Given the description of an element on the screen output the (x, y) to click on. 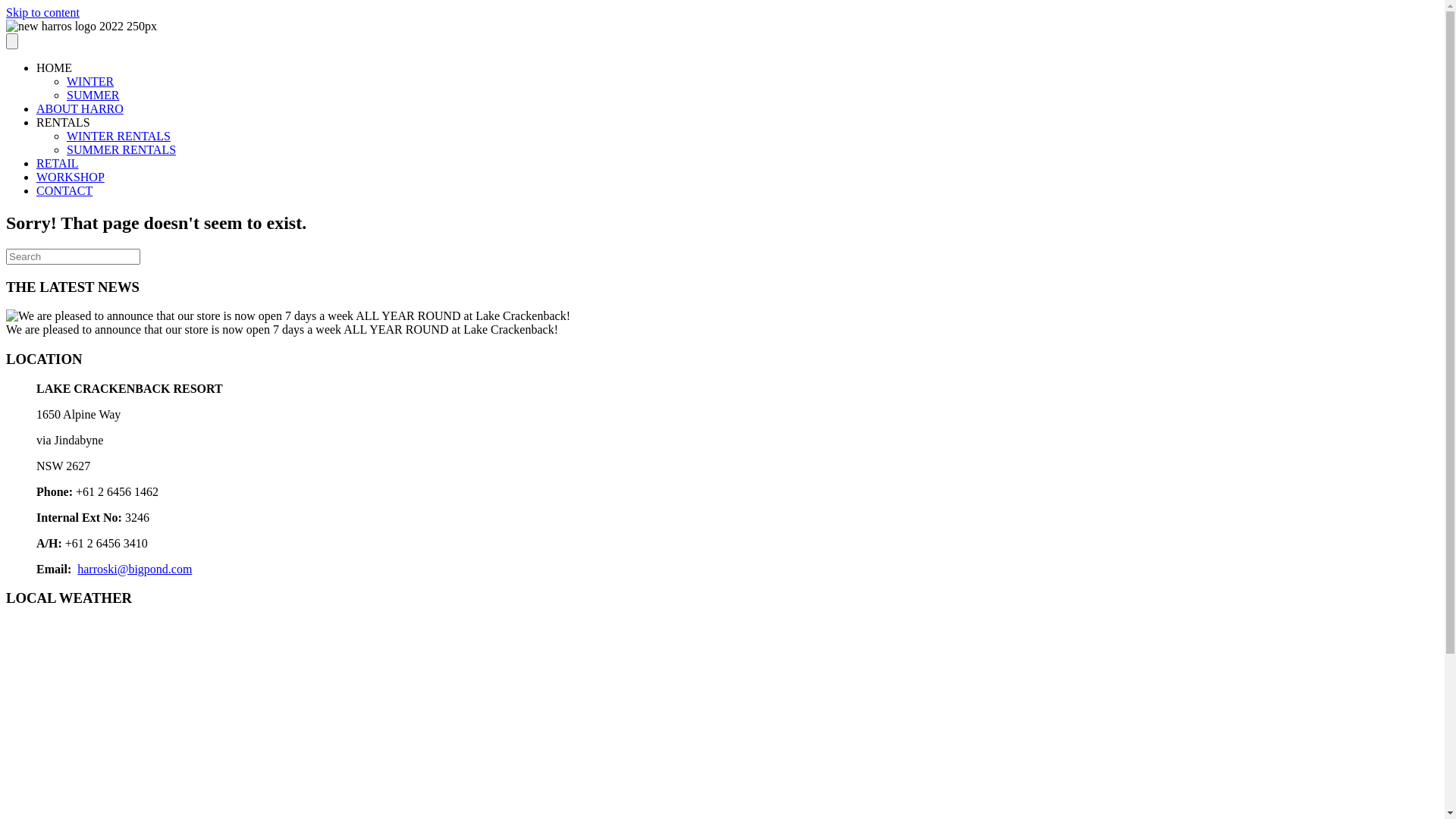
WINTER RENTALS Element type: text (118, 135)
David Harrison Element type: hover (288, 316)
Type and press Enter to search. Element type: hover (722, 256)
new harros logo 2022 250px Element type: hover (81, 26)
RENTALS Element type: text (63, 122)
WORKSHOP Element type: text (70, 176)
SUMMER RENTALS Element type: text (120, 149)
RETAIL Element type: text (57, 162)
WINTER Element type: text (89, 81)
Skip to content Element type: text (42, 12)
harroski@bigpond.com Element type: text (134, 568)
SUMMER Element type: text (92, 94)
HOME Element type: text (54, 67)
CONTACT Element type: text (64, 190)
ABOUT HARRO Element type: text (79, 108)
